Given the description of an element on the screen output the (x, y) to click on. 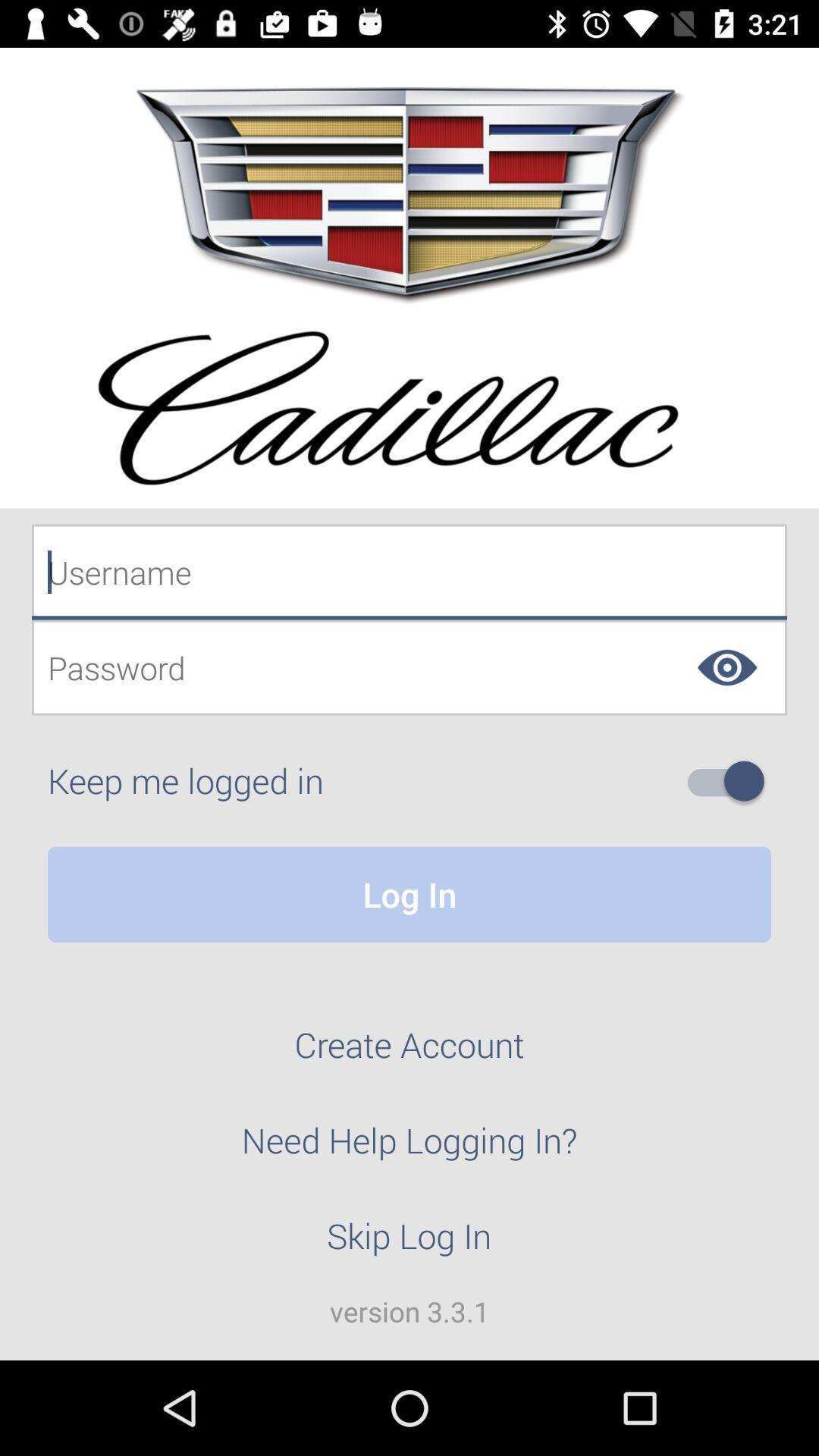
choose item above keep me logged (409, 667)
